Given the description of an element on the screen output the (x, y) to click on. 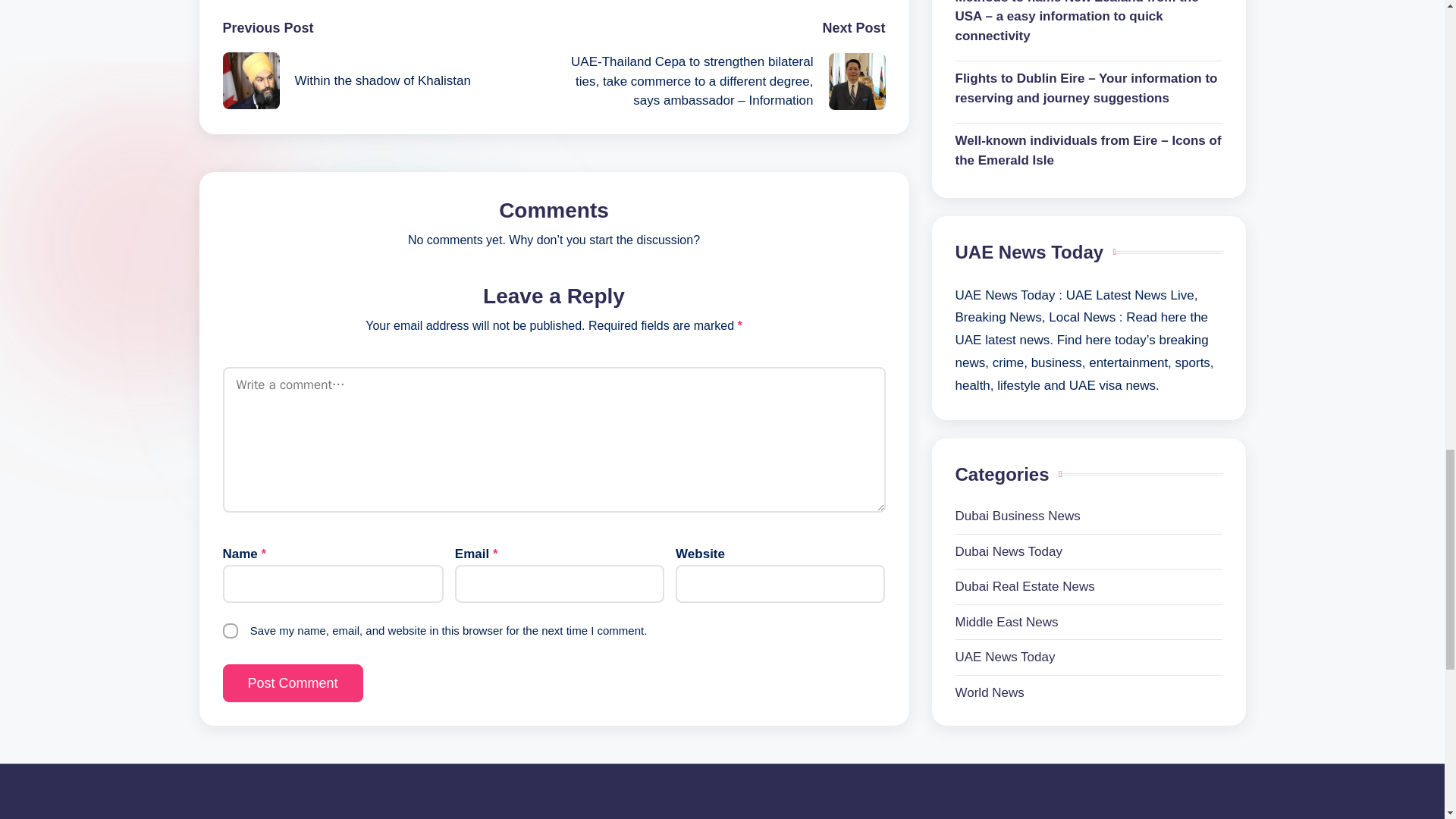
Post Comment (292, 682)
Post Comment (292, 682)
Within the shadow of Khalistan (388, 80)
yes (230, 630)
